Given the description of an element on the screen output the (x, y) to click on. 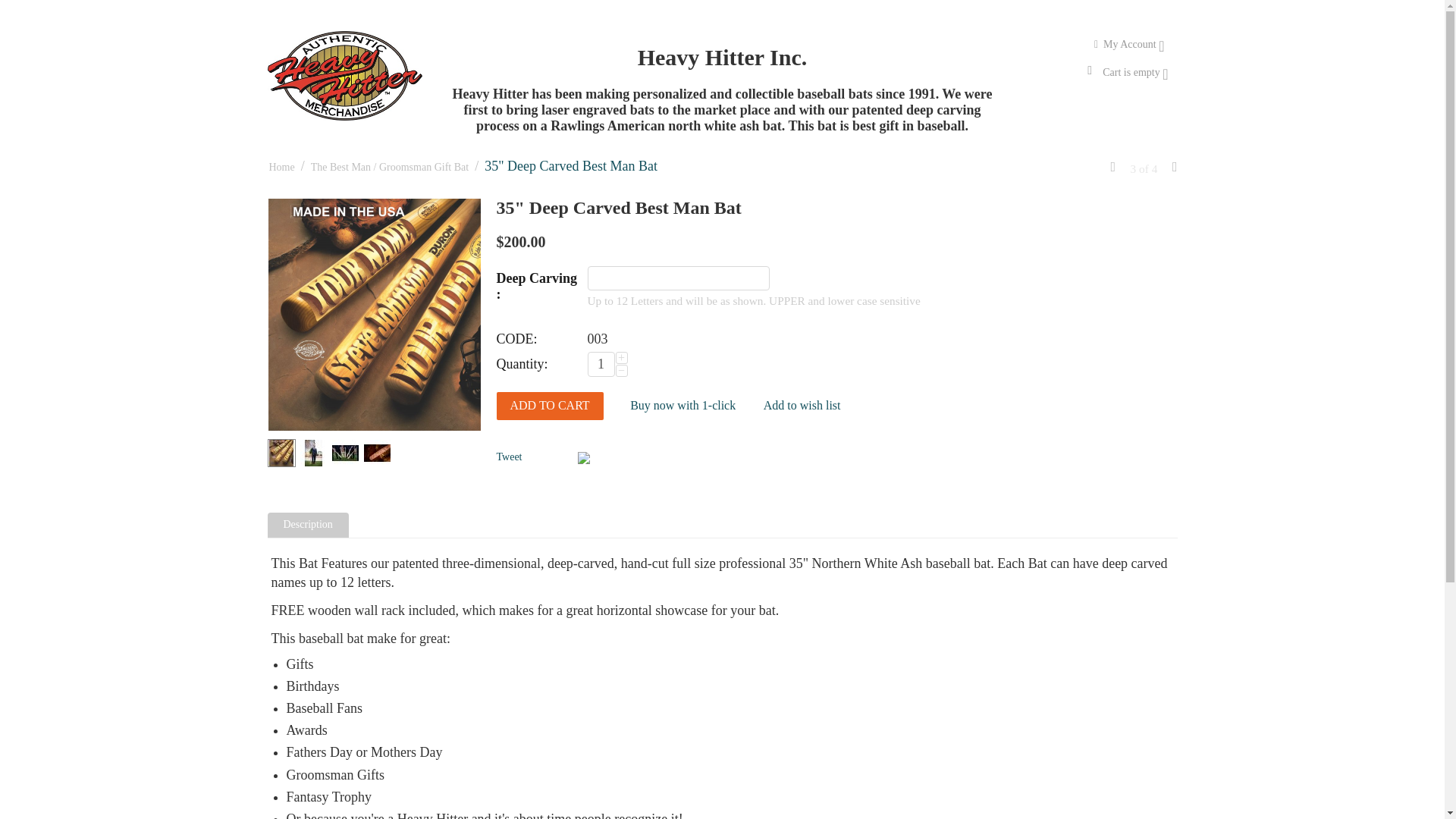
Buy now with 1-click (682, 405)
Tweet (508, 456)
Home (280, 167)
Description (309, 524)
Groomsman Bat Group Lifestyle Photo (344, 452)
Close Up Best Man Bat with Laser Personalization (377, 452)
ADD TO CART (549, 406)
Best Man Lifestyle bat with Laser Personalization (312, 452)
Add to wish list (801, 405)
1 (600, 364)
Cart is empty (1127, 71)
  My Account (1129, 43)
